Given the description of an element on the screen output the (x, y) to click on. 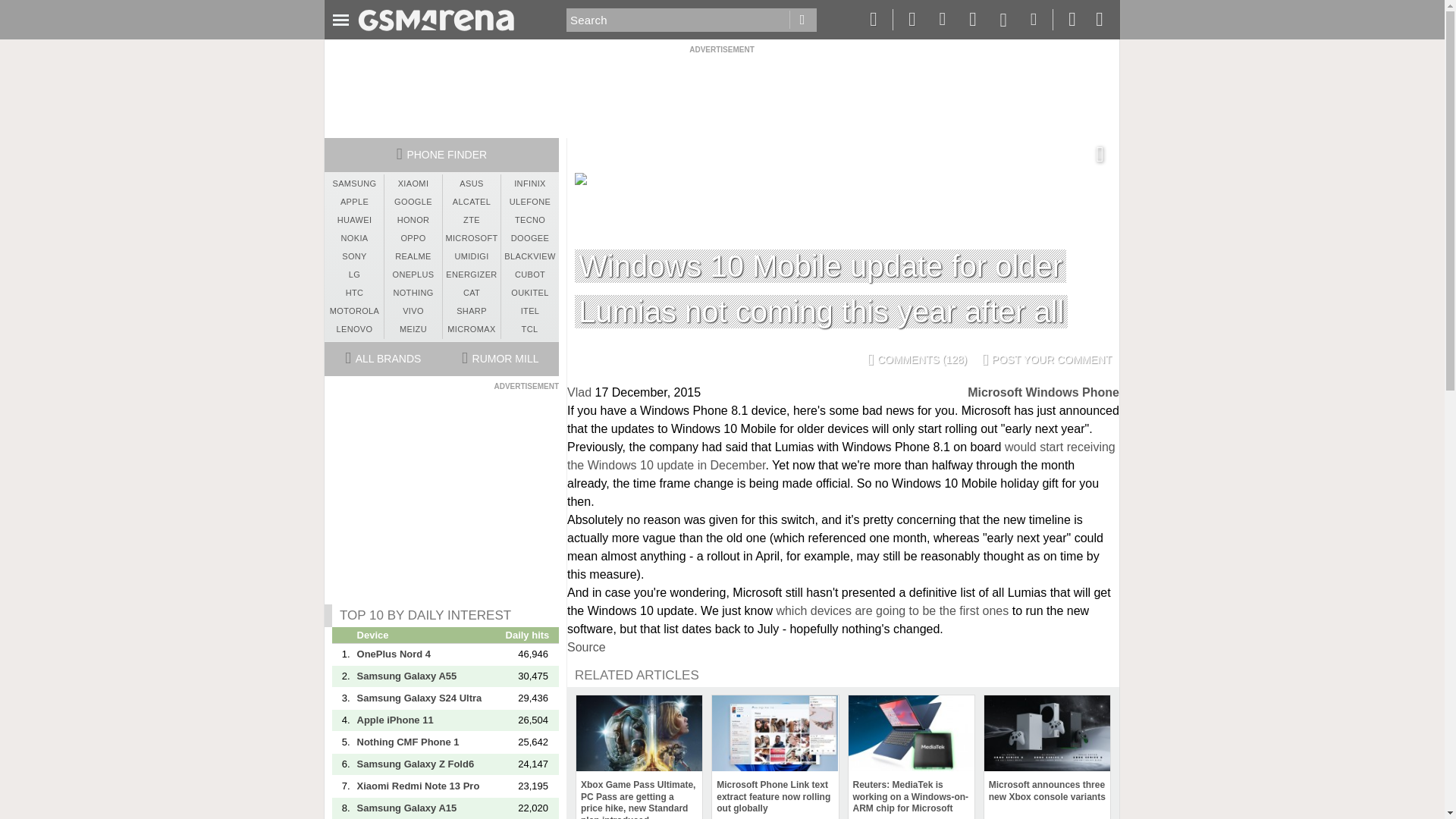
POST YOUR COMMENT (1046, 359)
Go (802, 19)
Windows Phone (1072, 391)
would start receiving the Windows 10 update in December (841, 455)
which devices are going to be the first ones (892, 610)
Vlad (579, 391)
Go (802, 19)
Microsoft announces three new Xbox console variants (1046, 751)
Microsoft (995, 391)
Source (586, 646)
